Given the description of an element on the screen output the (x, y) to click on. 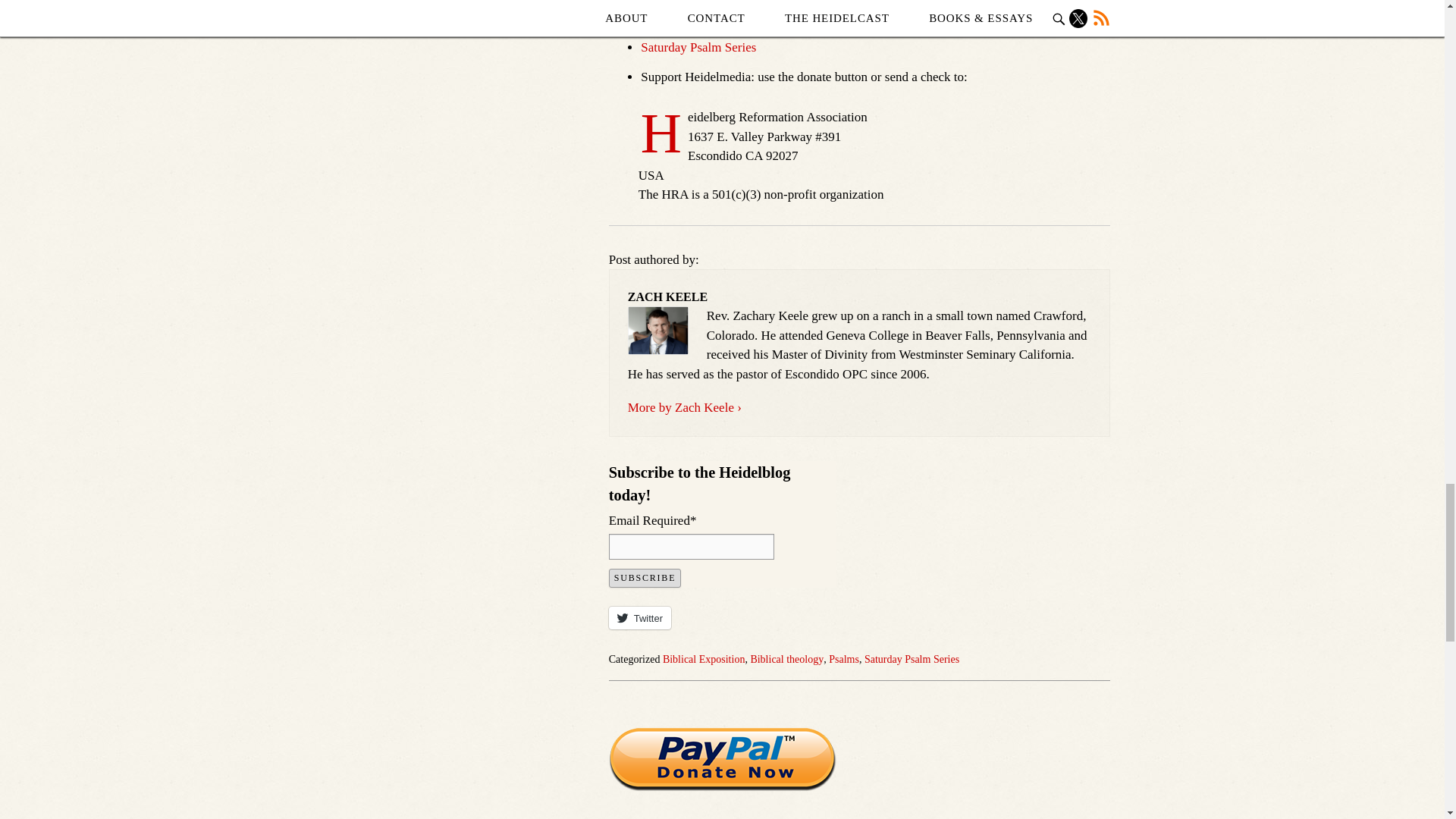
Saturday Psalm Series (697, 47)
Biblical Exposition (703, 659)
Heidelblog Contributors (703, 17)
Subscribe (644, 578)
Psalms (843, 659)
Click to share on Twitter (639, 617)
Twitter (639, 617)
Biblical theology (786, 659)
Subscribe (644, 578)
Support the Heidelblog! (721, 759)
